Given the description of an element on the screen output the (x, y) to click on. 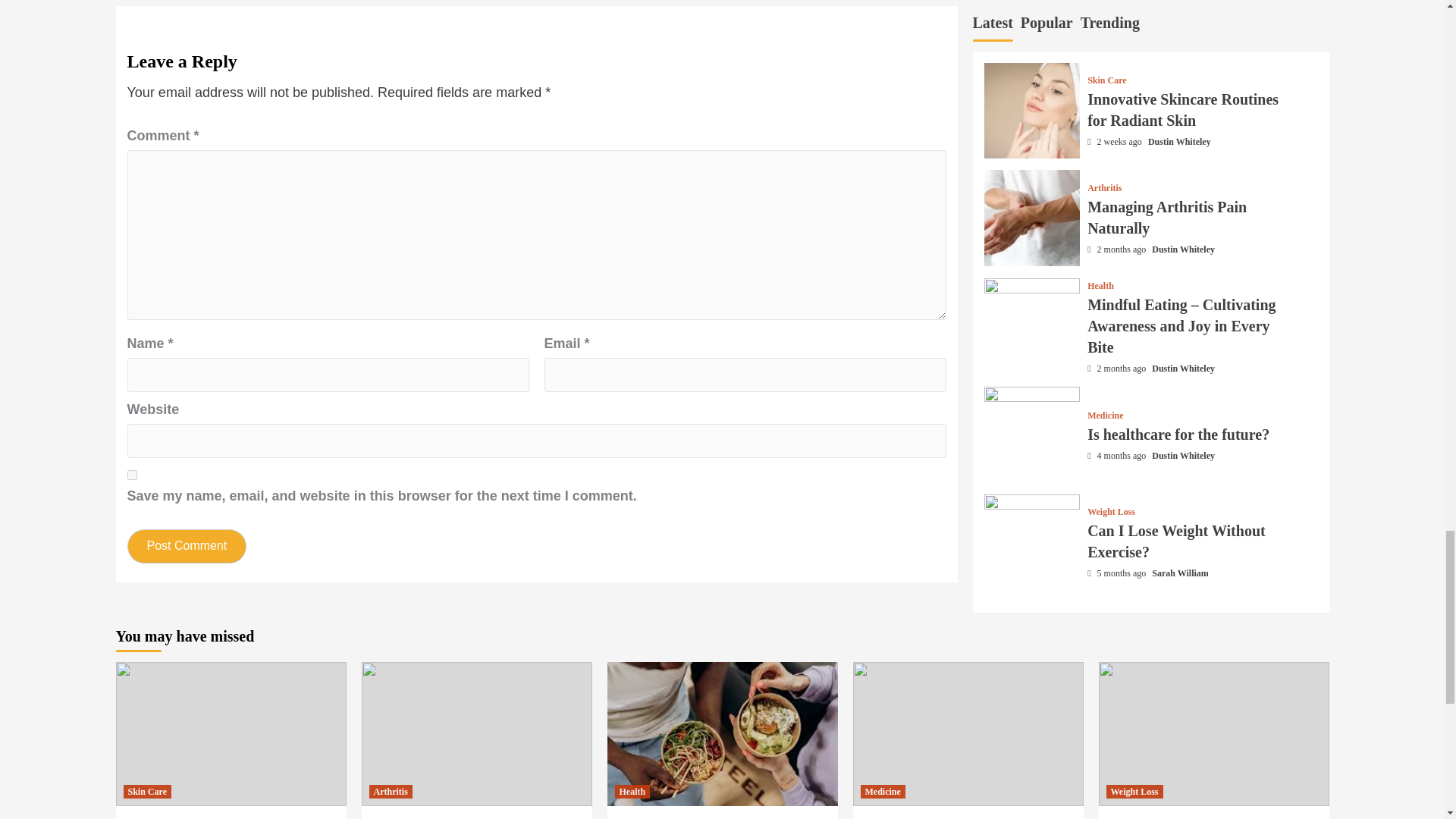
yes (132, 474)
Post Comment (187, 546)
Post Comment (187, 546)
